Given the description of an element on the screen output the (x, y) to click on. 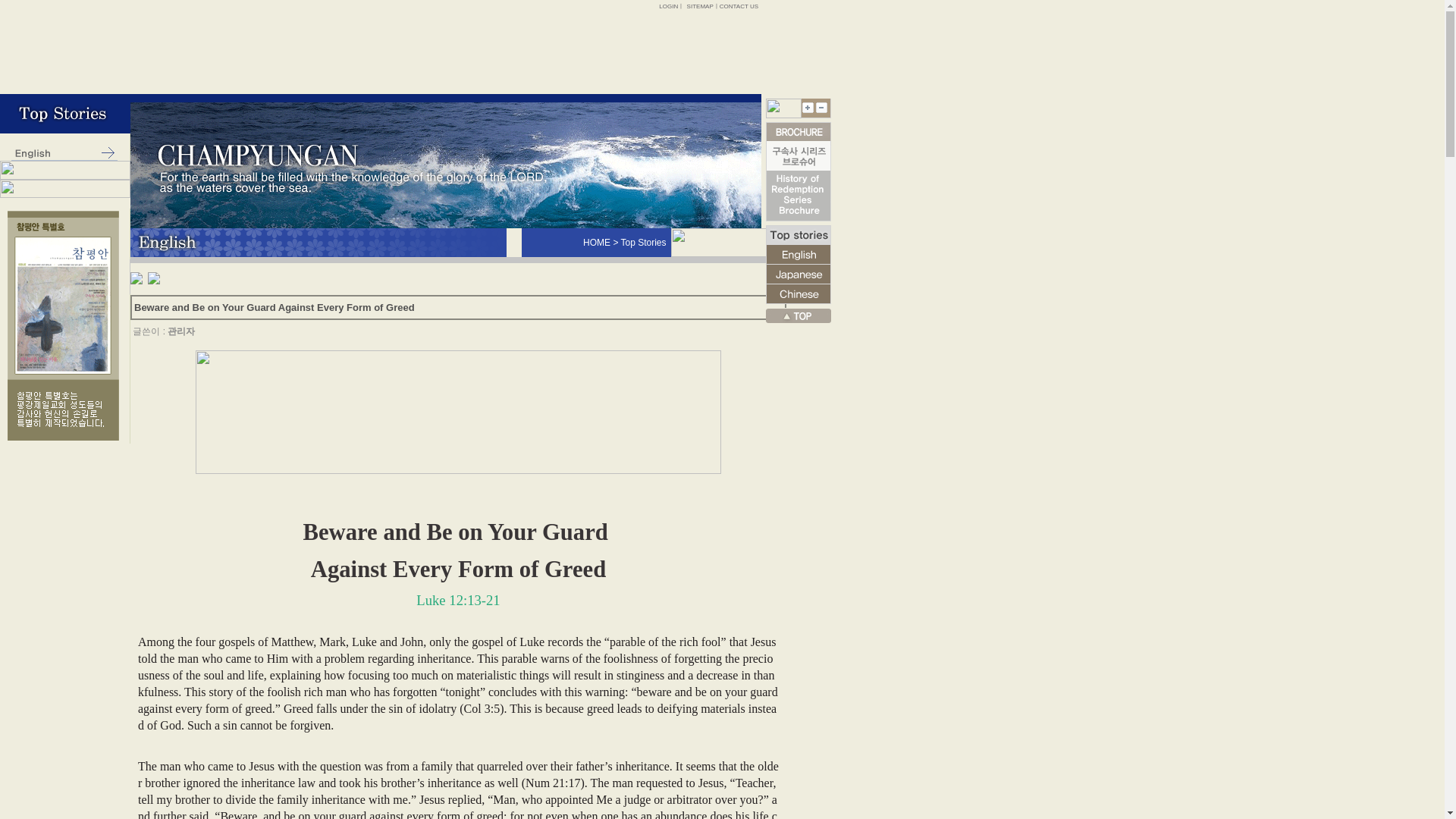
CONTACT US (738, 6)
HOME (596, 242)
